Given the description of an element on the screen output the (x, y) to click on. 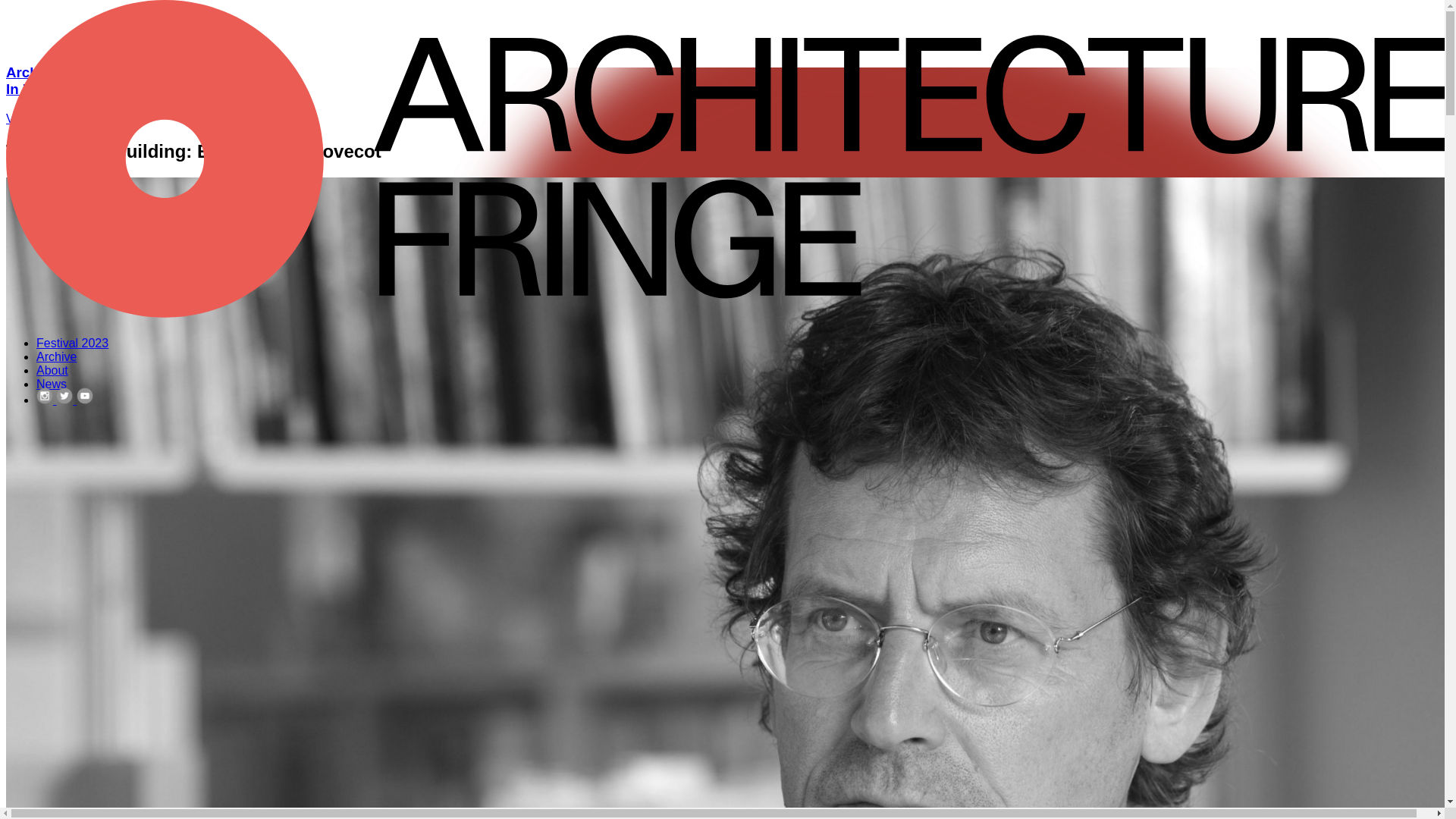
Festival 2023 (71, 342)
About (721, 80)
Archive (52, 369)
View Programme (56, 356)
News (52, 118)
